Given the description of an element on the screen output the (x, y) to click on. 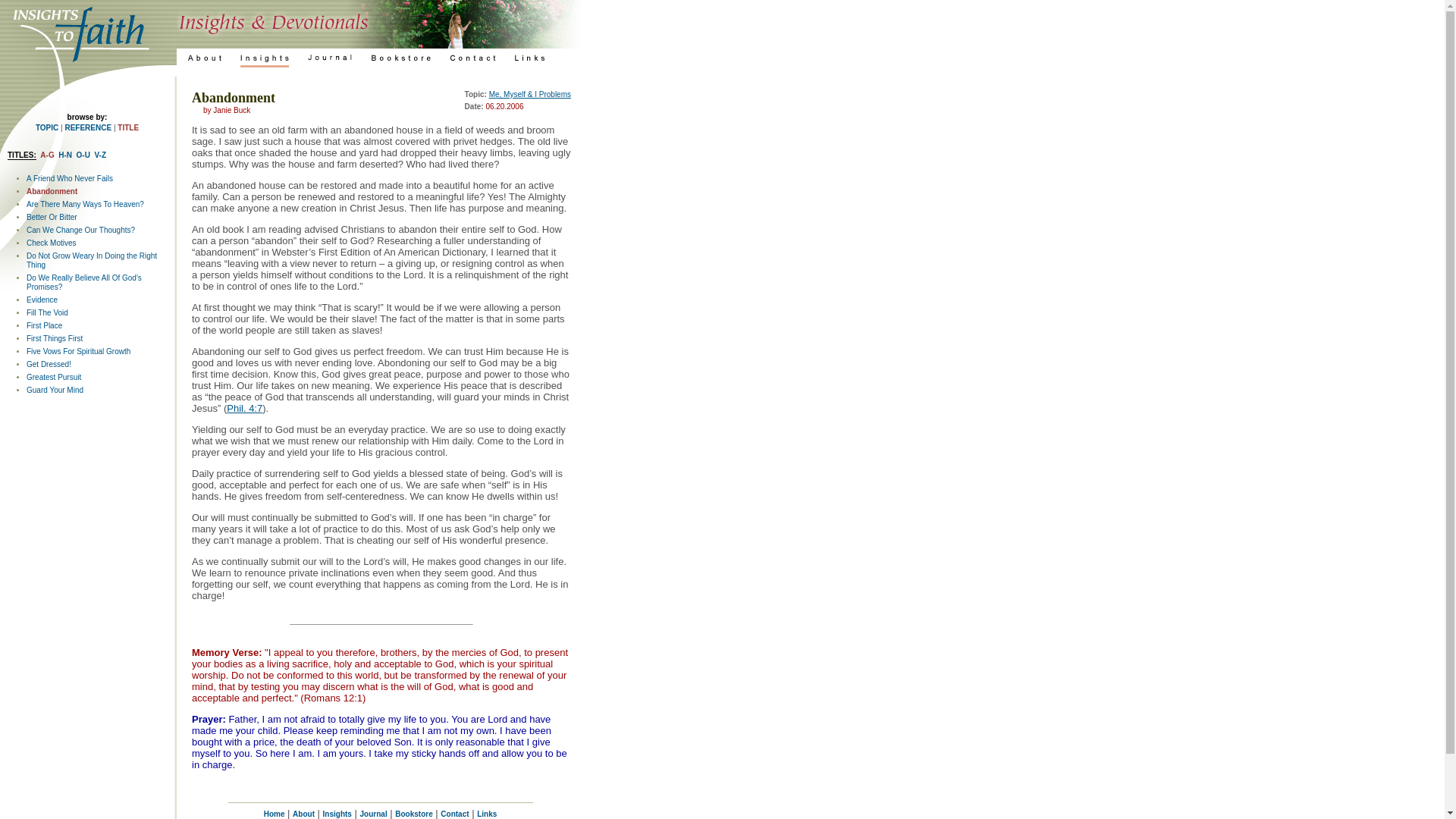
Check Motives (51, 243)
Do We Really Believe All Of God's Promises? (83, 282)
TITLE (127, 127)
Bookstore (413, 813)
Better Or Bitter (51, 216)
Guard Your Mind (54, 389)
Five Vows For Spiritual Growth (78, 351)
Do Not Grow Weary In Doing the Right Thing (91, 260)
A Friend Who Never Fails (69, 178)
Links (486, 813)
About (303, 813)
First Place (44, 325)
Get Dressed! (48, 364)
Journal (373, 813)
O-U (83, 154)
